Given the description of an element on the screen output the (x, y) to click on. 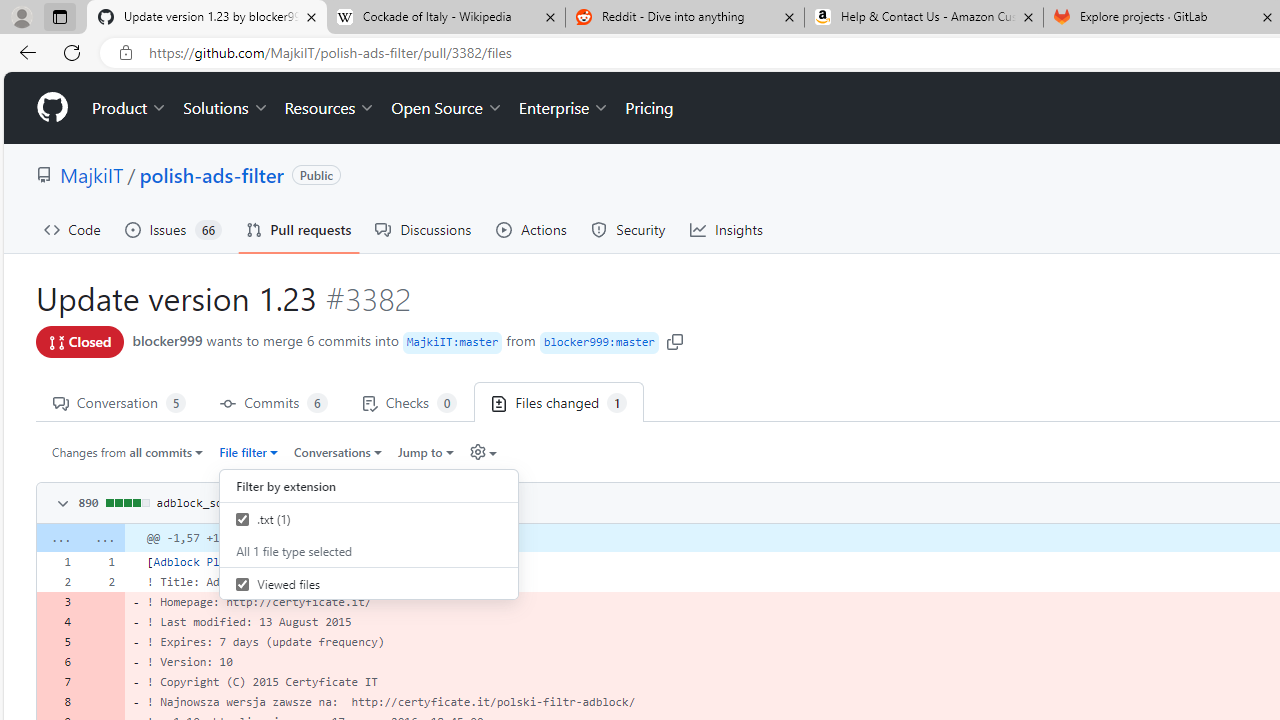
Original file line number (63, 555)
blocker999 (167, 340)
Reddit - Dive into anything (684, 17)
Toggle diff contents (60, 504)
Solutions (225, 107)
Changes from all commits (127, 451)
Discussions (424, 229)
Open Source (446, 107)
7 (58, 681)
Jump to (426, 451)
Class: blob-num blob-num-deletion empty-cell (102, 701)
Product (130, 107)
3 (58, 601)
